Given the description of an element on the screen output the (x, y) to click on. 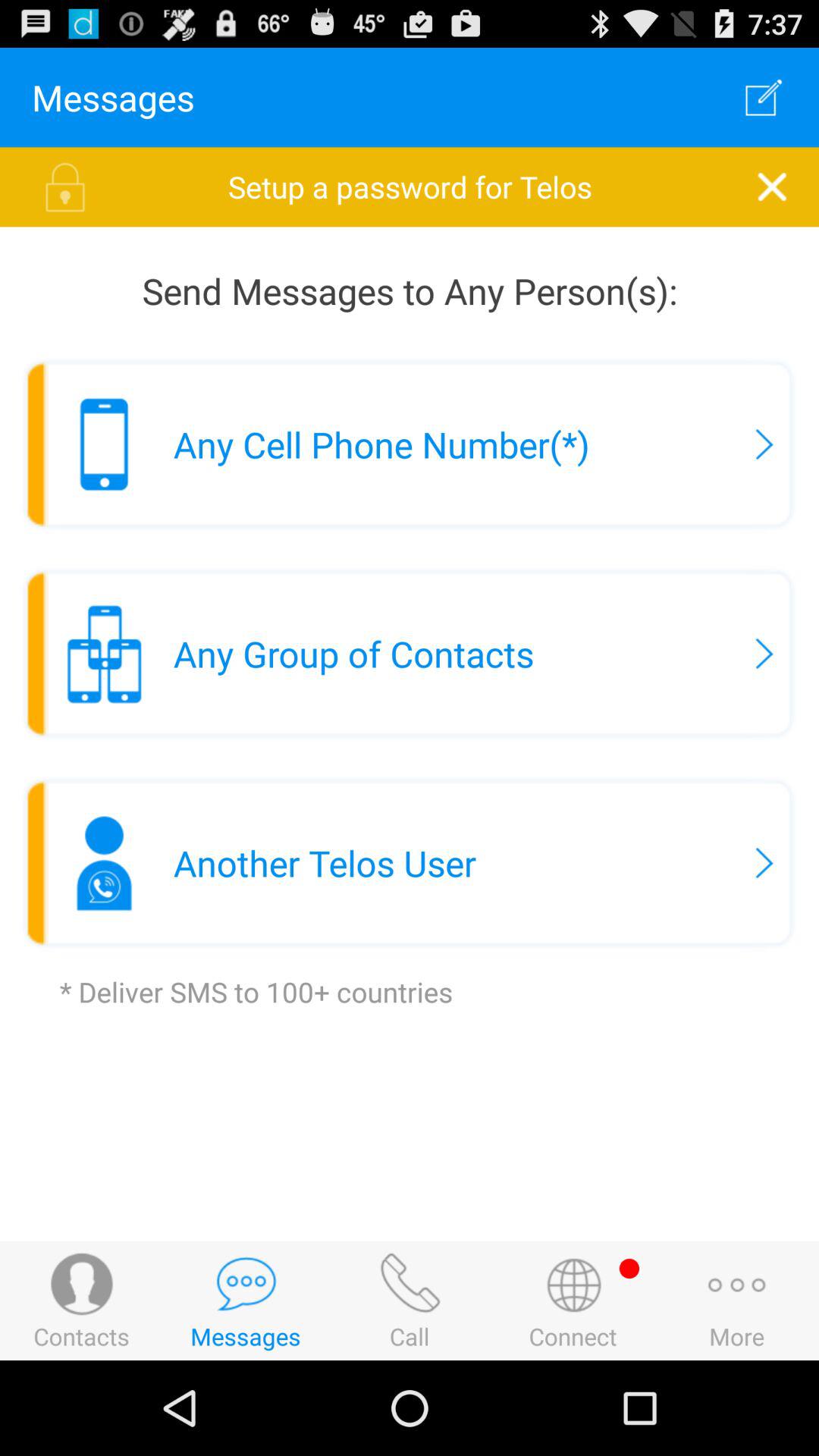
select item to the right of the messages icon (763, 97)
